Given the description of an element on the screen output the (x, y) to click on. 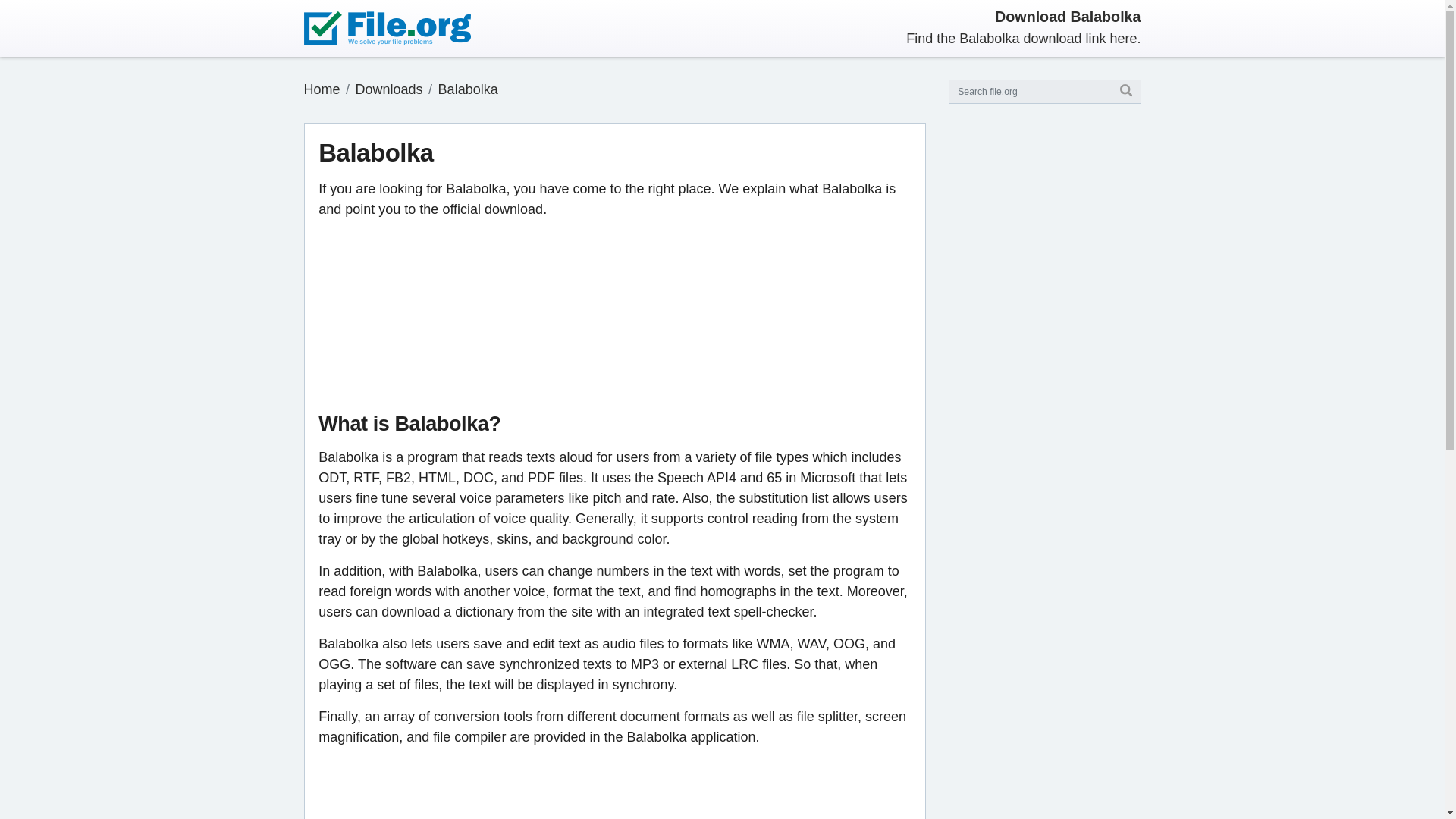
Downloads (389, 89)
Balabolka (467, 89)
Home (320, 89)
Downloads (389, 89)
Balabolka (467, 89)
File.org (320, 89)
